Given the description of an element on the screen output the (x, y) to click on. 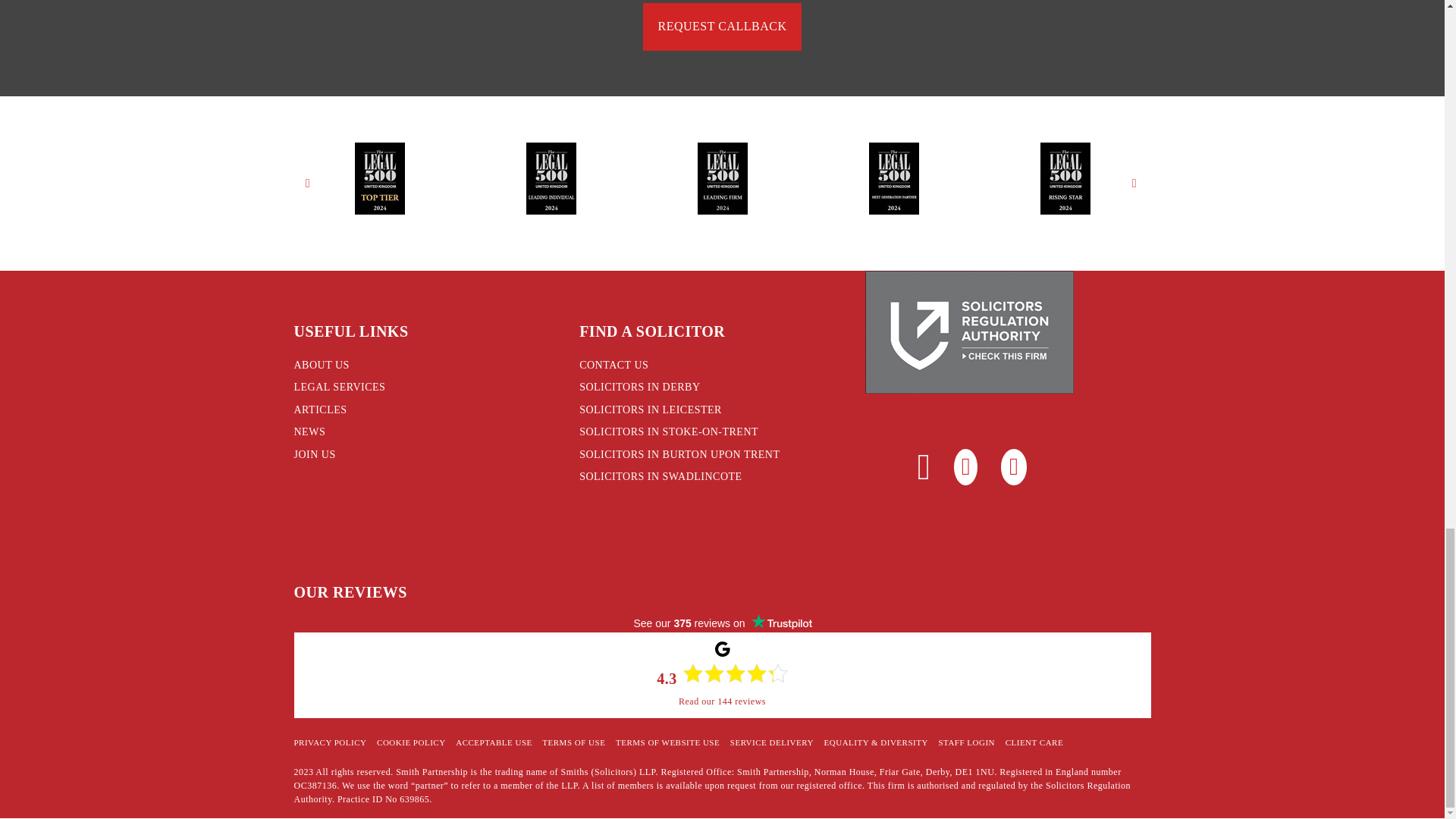
Customer reviews powered by Trustpilot (722, 623)
